Given the description of an element on the screen output the (x, y) to click on. 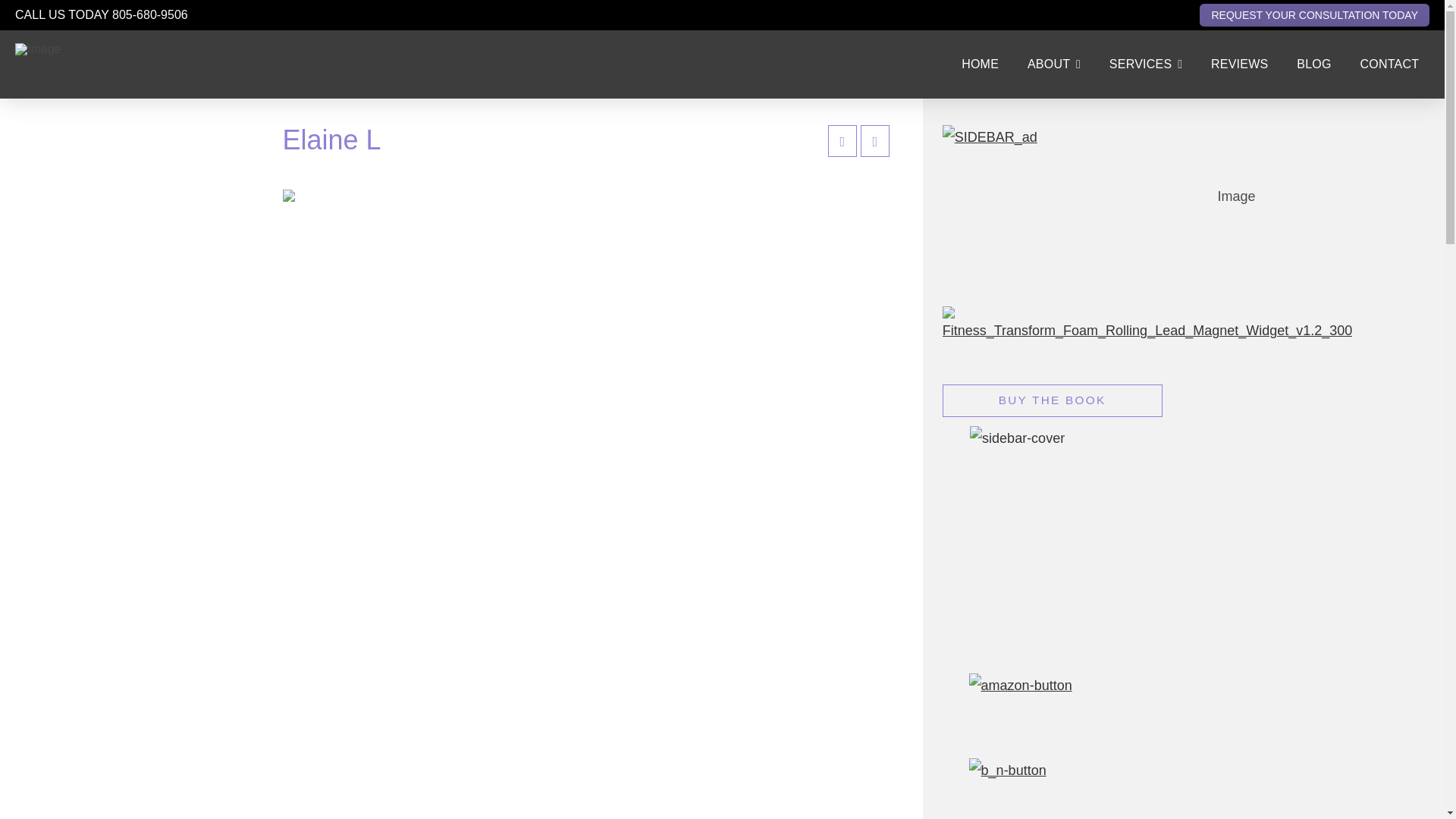
REVIEWS (1239, 63)
CONTACT (1388, 63)
HOME (980, 63)
ABOUT (1053, 63)
BLOG (1313, 63)
REQUEST YOUR CONSULTATION TODAY (1314, 15)
SERVICES (1145, 63)
